Given the description of an element on the screen output the (x, y) to click on. 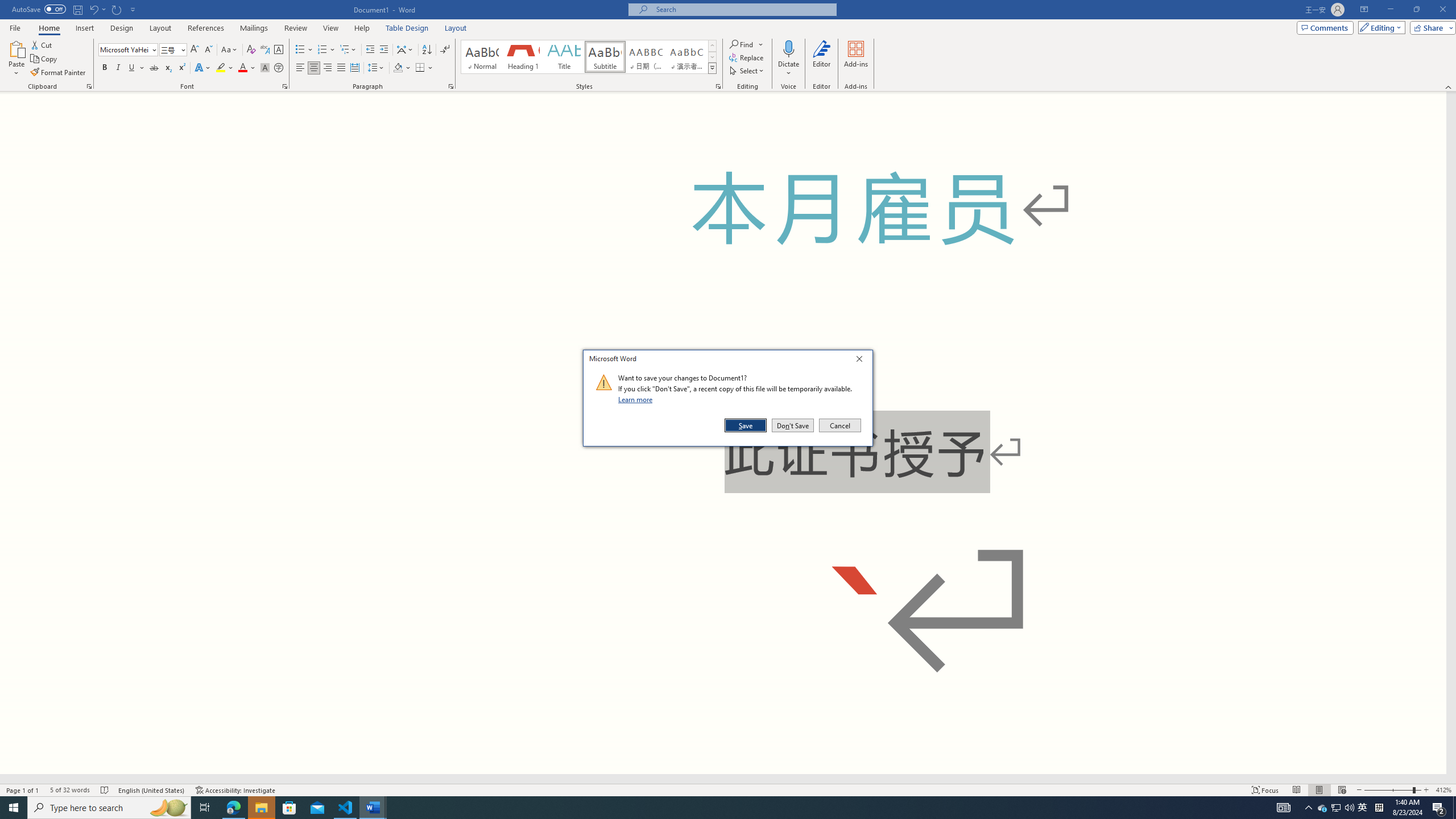
Italic (118, 67)
Change Case (229, 49)
Spelling and Grammar Check No Errors (105, 790)
Shading RGB(0, 0, 0) (397, 67)
Select (747, 69)
Text Effects and Typography (202, 67)
Grow Font (193, 49)
Q2790: 100% (1349, 807)
